Given the description of an element on the screen output the (x, y) to click on. 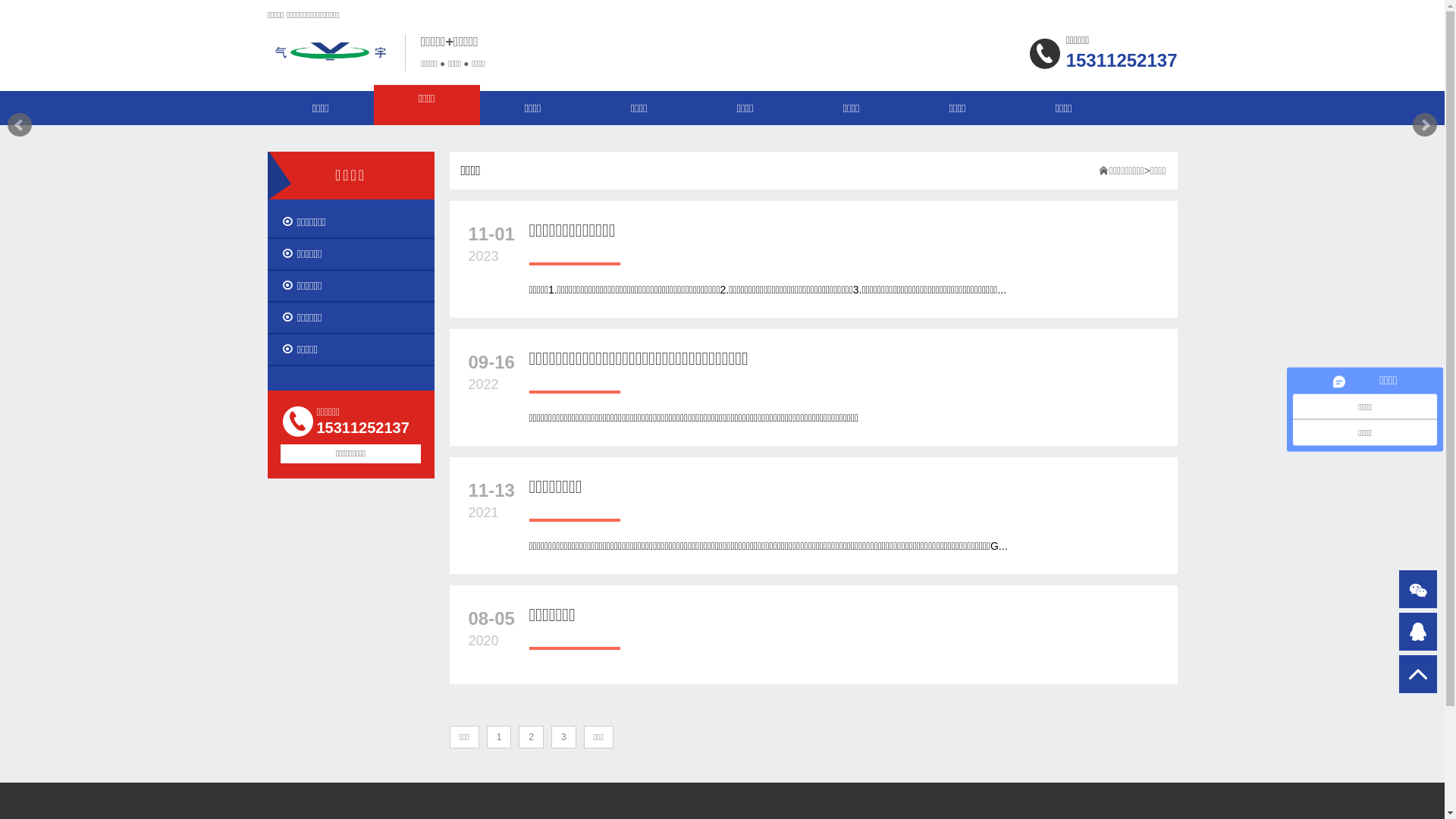
3 Element type: text (563, 736)
Next Element type: text (1424, 124)
Prev Element type: text (19, 124)
2 Element type: text (530, 736)
